Given the description of an element on the screen output the (x, y) to click on. 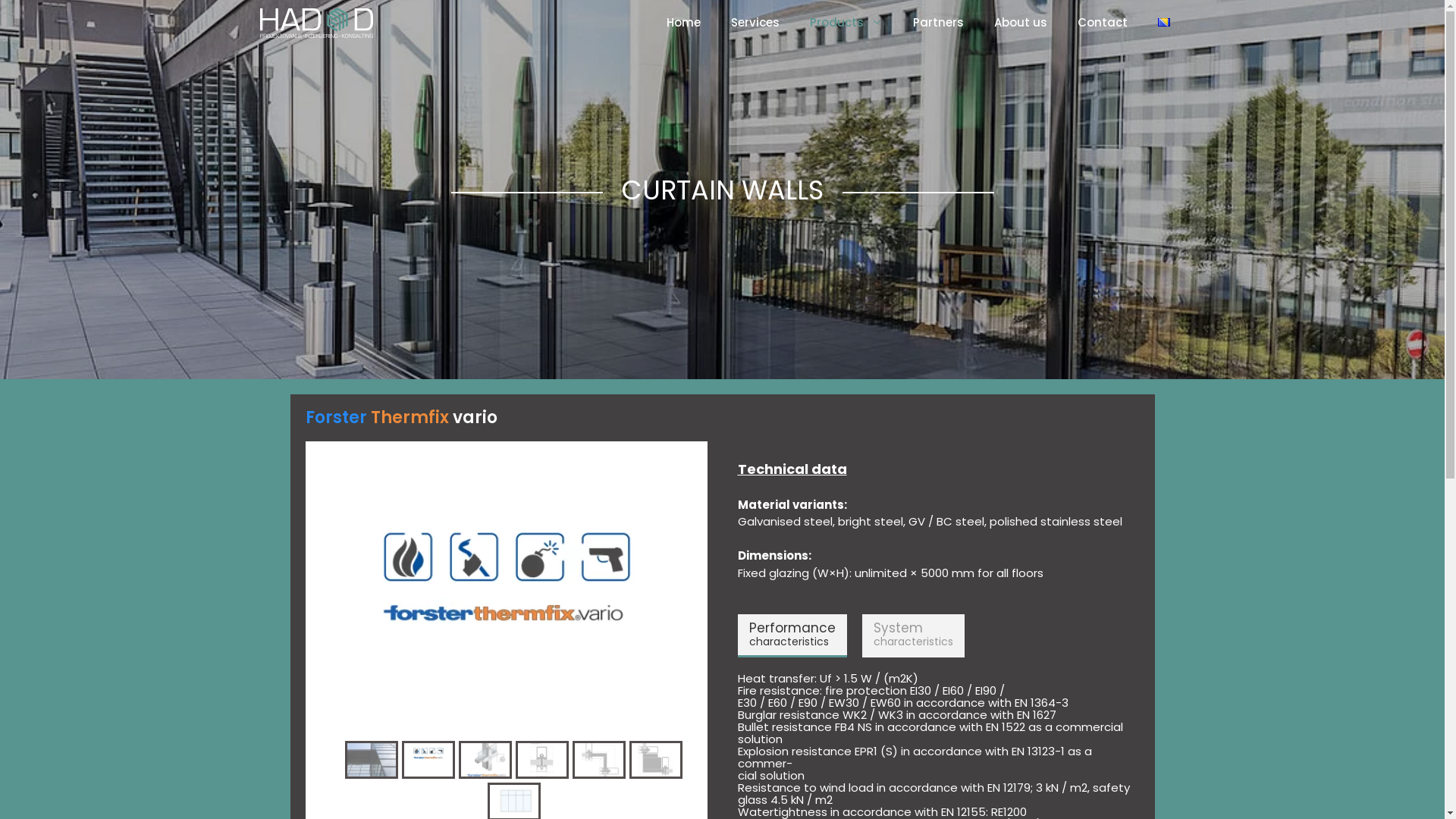
Products Element type: text (845, 22)
Contact Element type: text (1101, 22)
About us Element type: text (1019, 22)
Performance
characteristics Element type: text (791, 635)
Home Element type: text (682, 22)
Partners Element type: text (938, 22)
Hadeed d.o.o Sarajevo Element type: hover (316, 22)
Services Element type: text (754, 22)
System
characteristics Element type: text (912, 635)
